Given the description of an element on the screen output the (x, y) to click on. 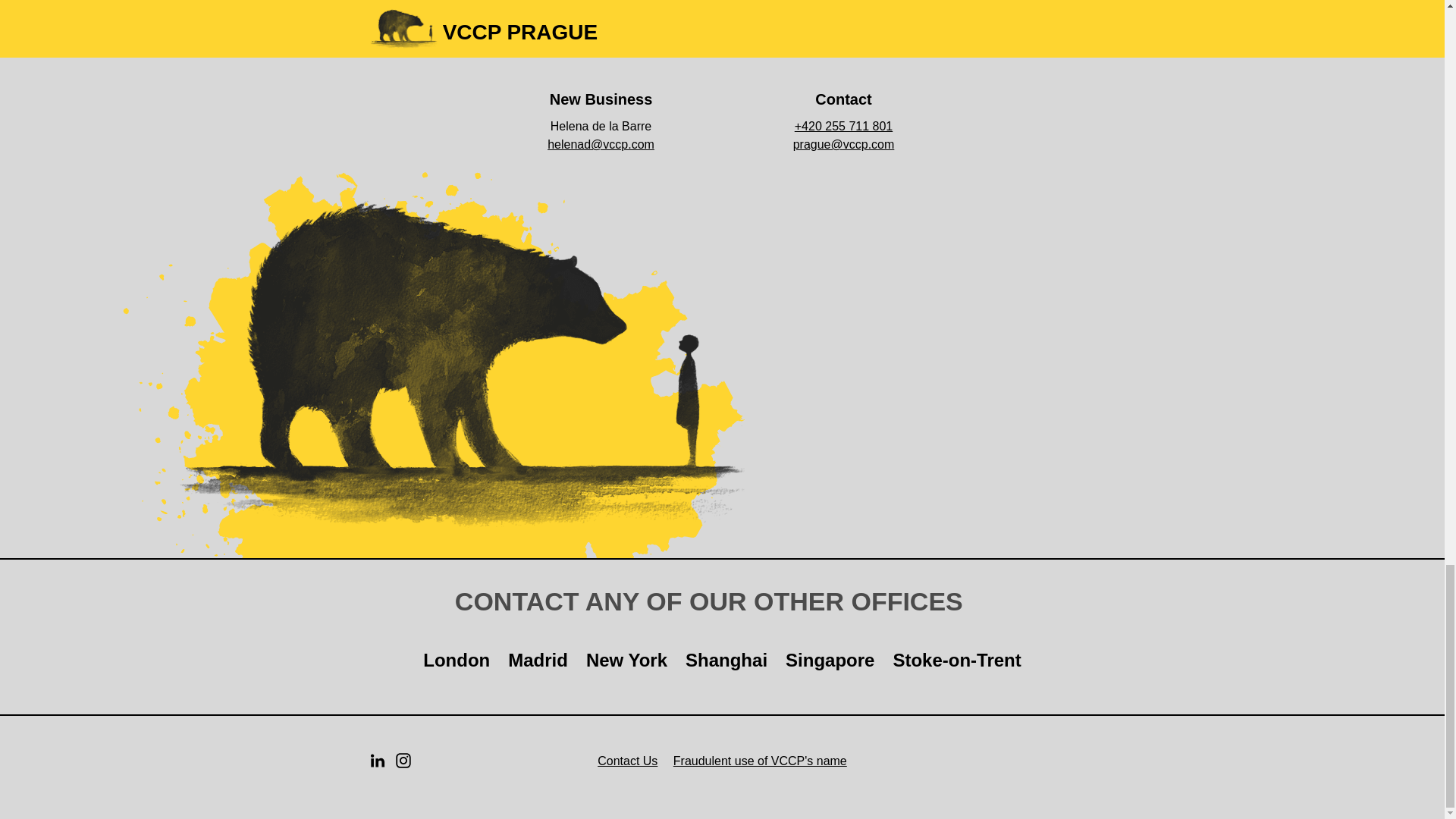
Stoke-on-Trent (956, 660)
Fraudulent use of VCCP's name (759, 760)
LINKEDIN (377, 760)
CONTACT ANY OF OUR OTHER OFFICES (722, 601)
Madrid (537, 660)
INSTAGRAM (403, 760)
London (456, 660)
Contact Us (627, 760)
Singapore (829, 660)
New York (626, 660)
Shanghai (726, 660)
